Given the description of an element on the screen output the (x, y) to click on. 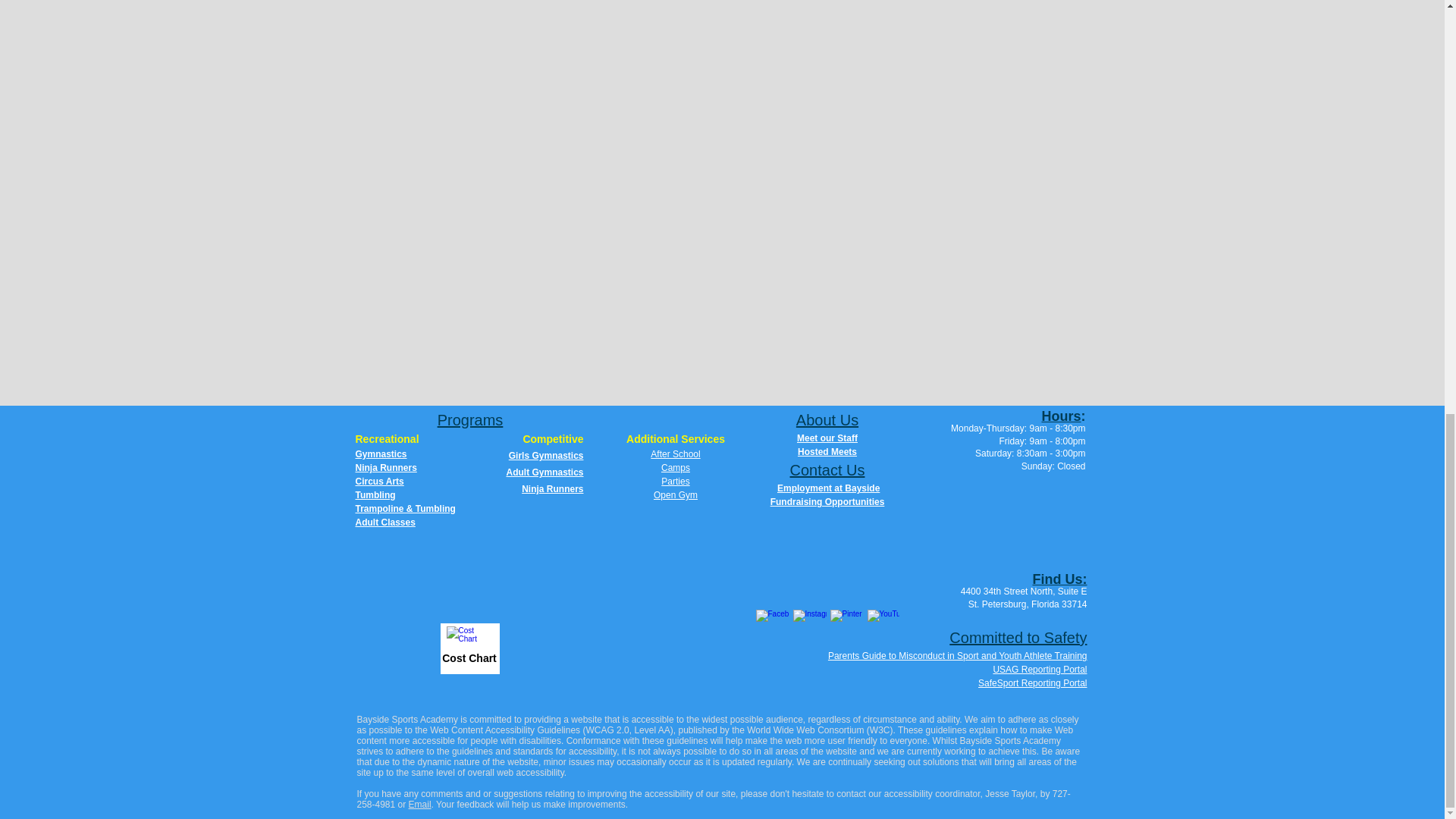
Ninja Runners (552, 489)
Programs (470, 419)
Adult Classes (384, 521)
Camps (675, 467)
Circus Arts (379, 480)
After School (675, 453)
Girls Gymnastics (545, 455)
Tumbling (374, 494)
Adult Gymnastics (544, 471)
Parties (674, 480)
